Given the description of an element on the screen output the (x, y) to click on. 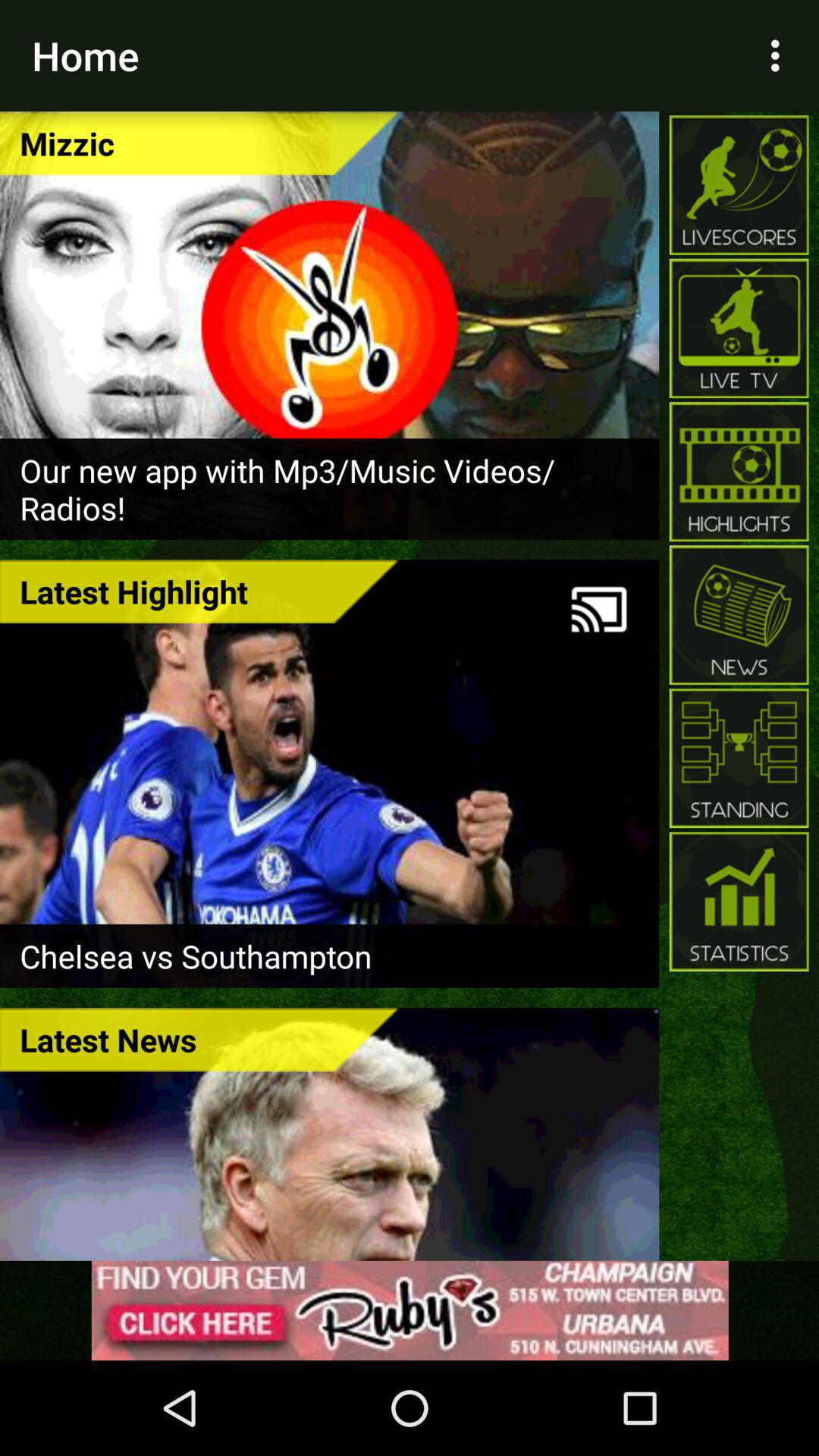
flip to chelsea vs southampton item (329, 955)
